Given the description of an element on the screen output the (x, y) to click on. 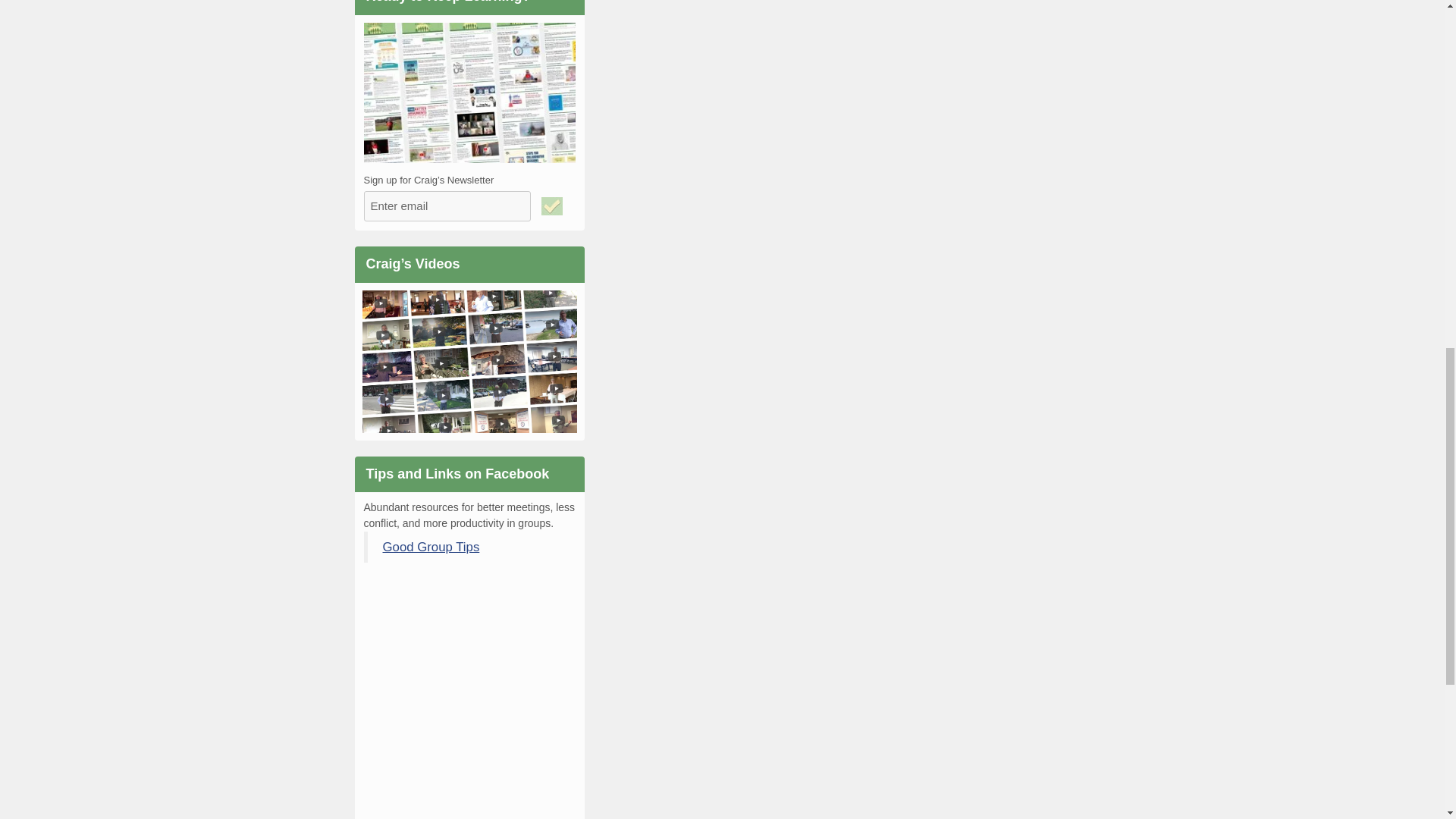
Good Group Tips (430, 546)
Craig's Videos (470, 365)
